Given the description of an element on the screen output the (x, y) to click on. 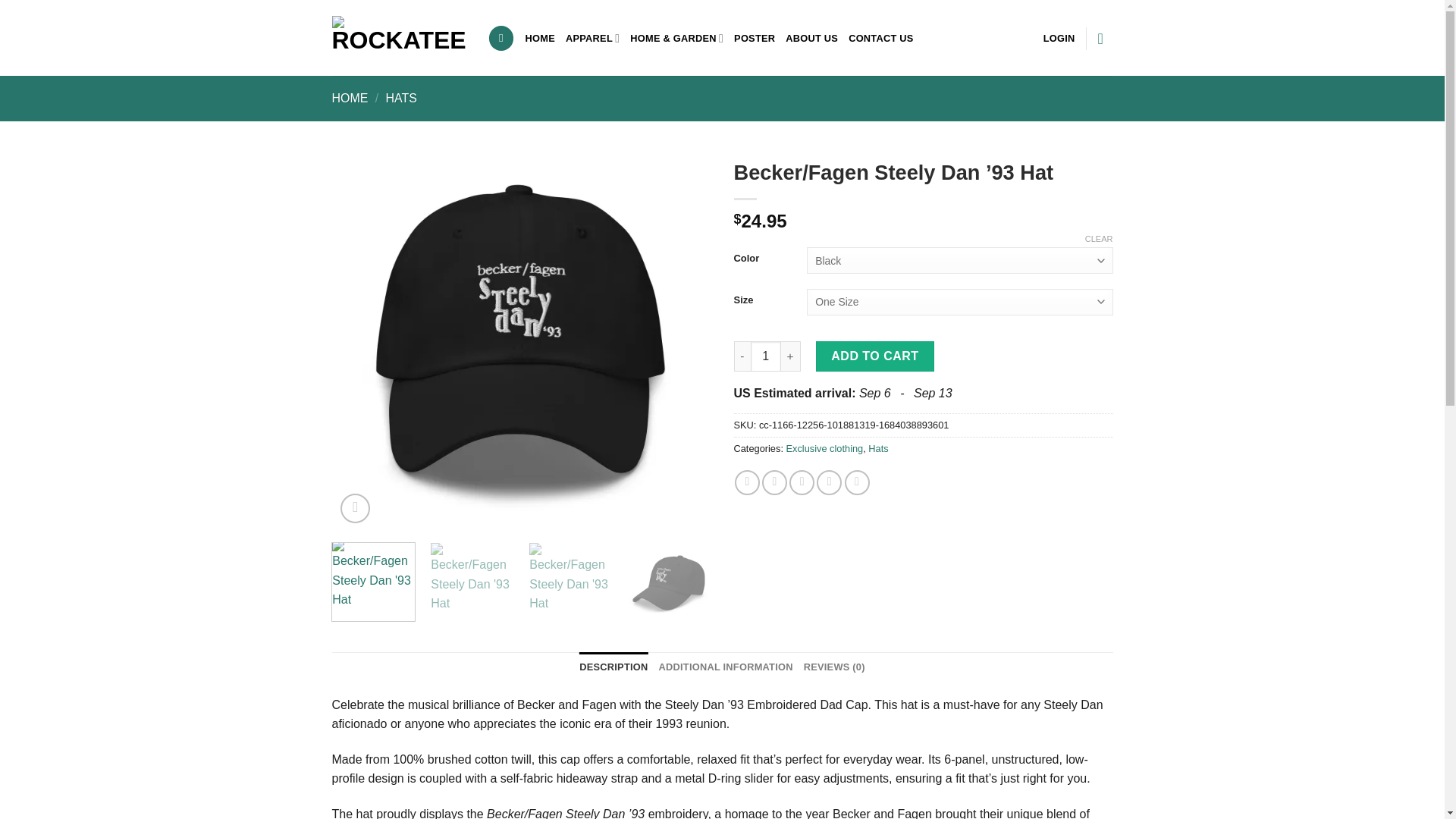
1 (765, 356)
Share on Facebook (747, 482)
CLEAR (1098, 238)
CONTACT US (881, 38)
LOGIN (1059, 38)
ABOUT US (812, 38)
Zoom (354, 508)
APPAREL (593, 38)
Share on Twitter (774, 482)
HOME (349, 97)
